Given the description of an element on the screen output the (x, y) to click on. 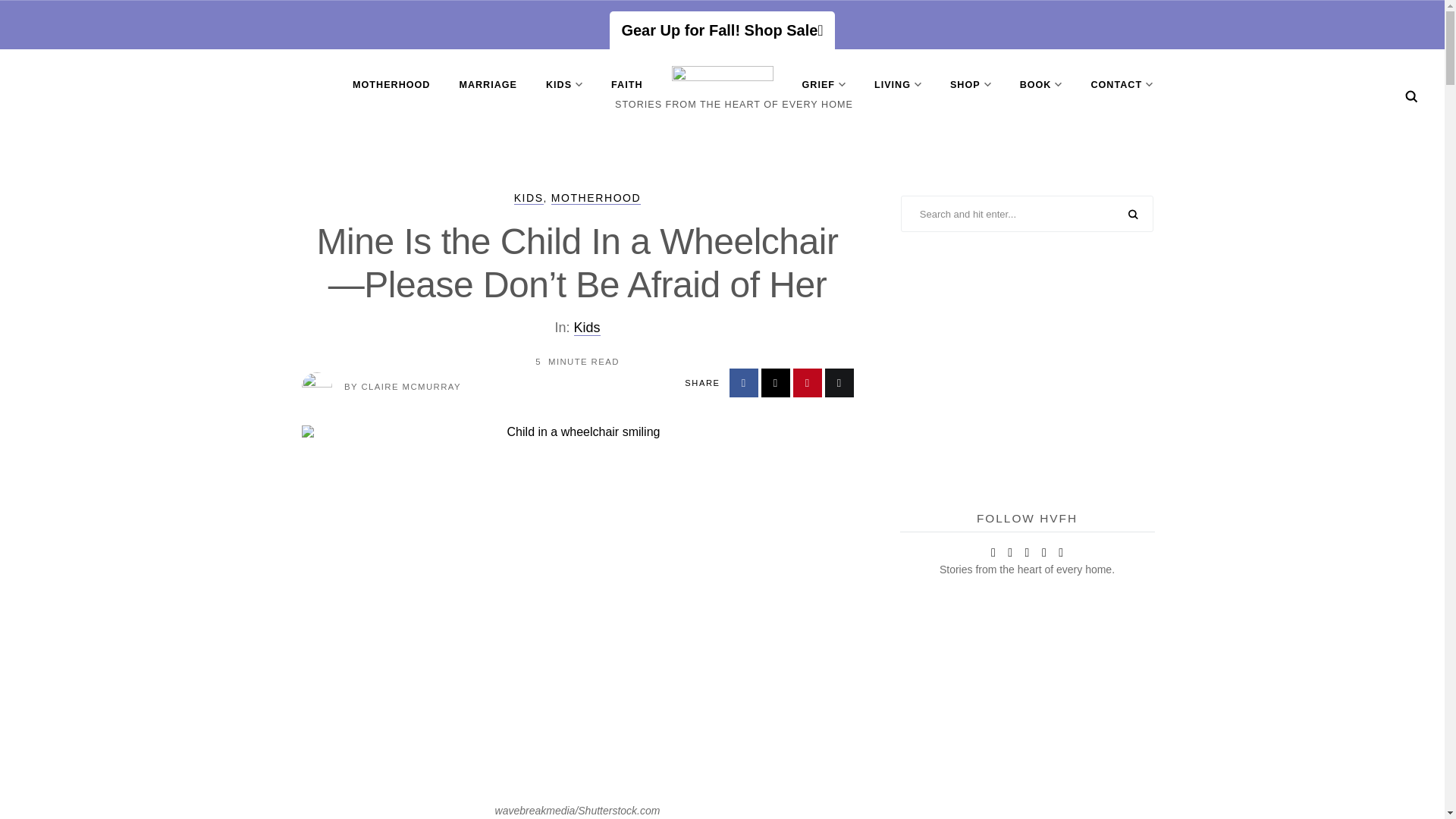
Share on Facebook (743, 382)
Share on X (775, 382)
Search (1411, 96)
SEARCH (1133, 214)
Share by Email (839, 382)
Share on Pinterest (807, 382)
